Given the description of an element on the screen output the (x, y) to click on. 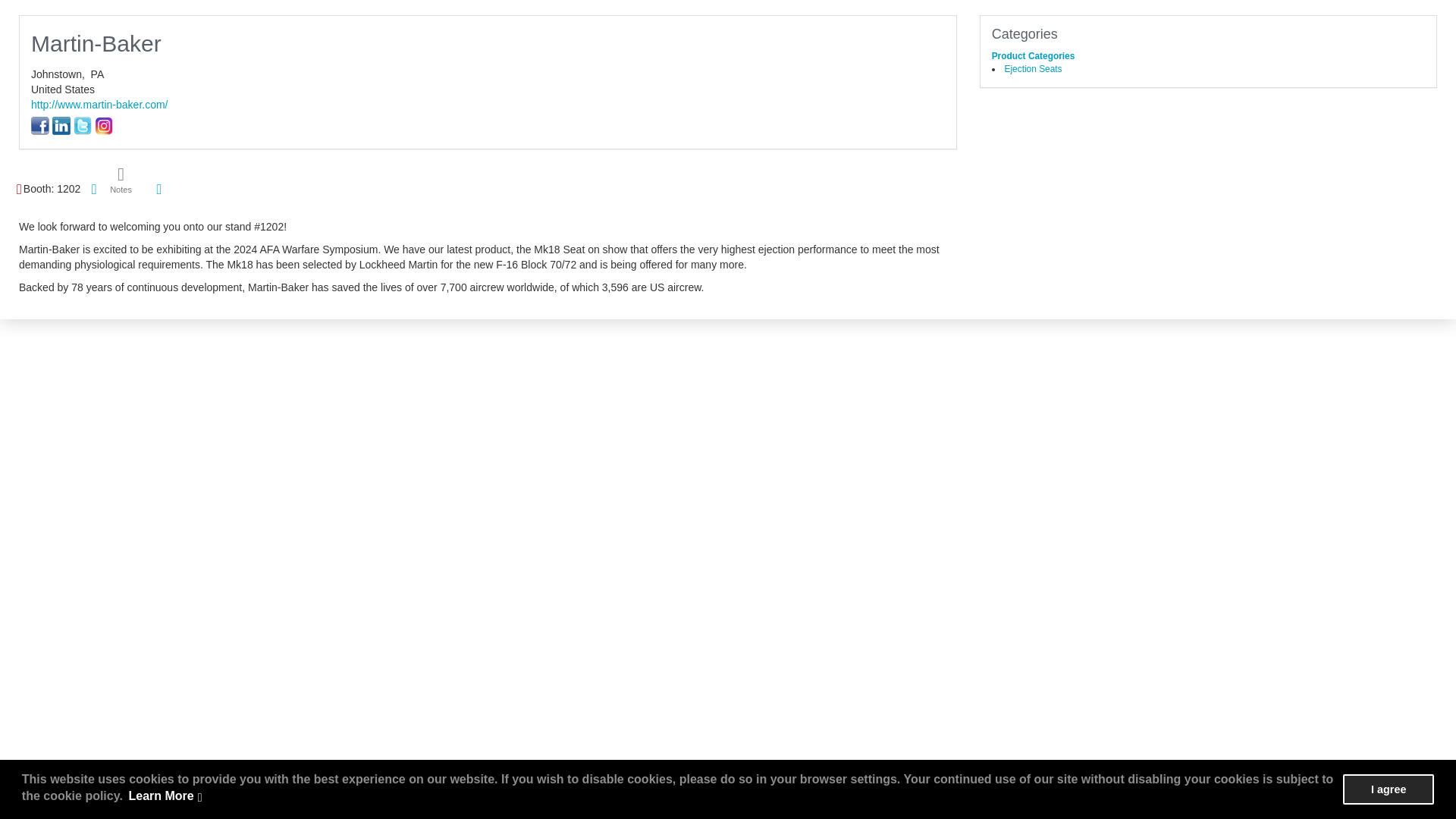
Product Categories (1033, 55)
Ejection Seats (1033, 68)
Add To My Exhibitors (158, 189)
Print (93, 188)
